Given the description of an element on the screen output the (x, y) to click on. 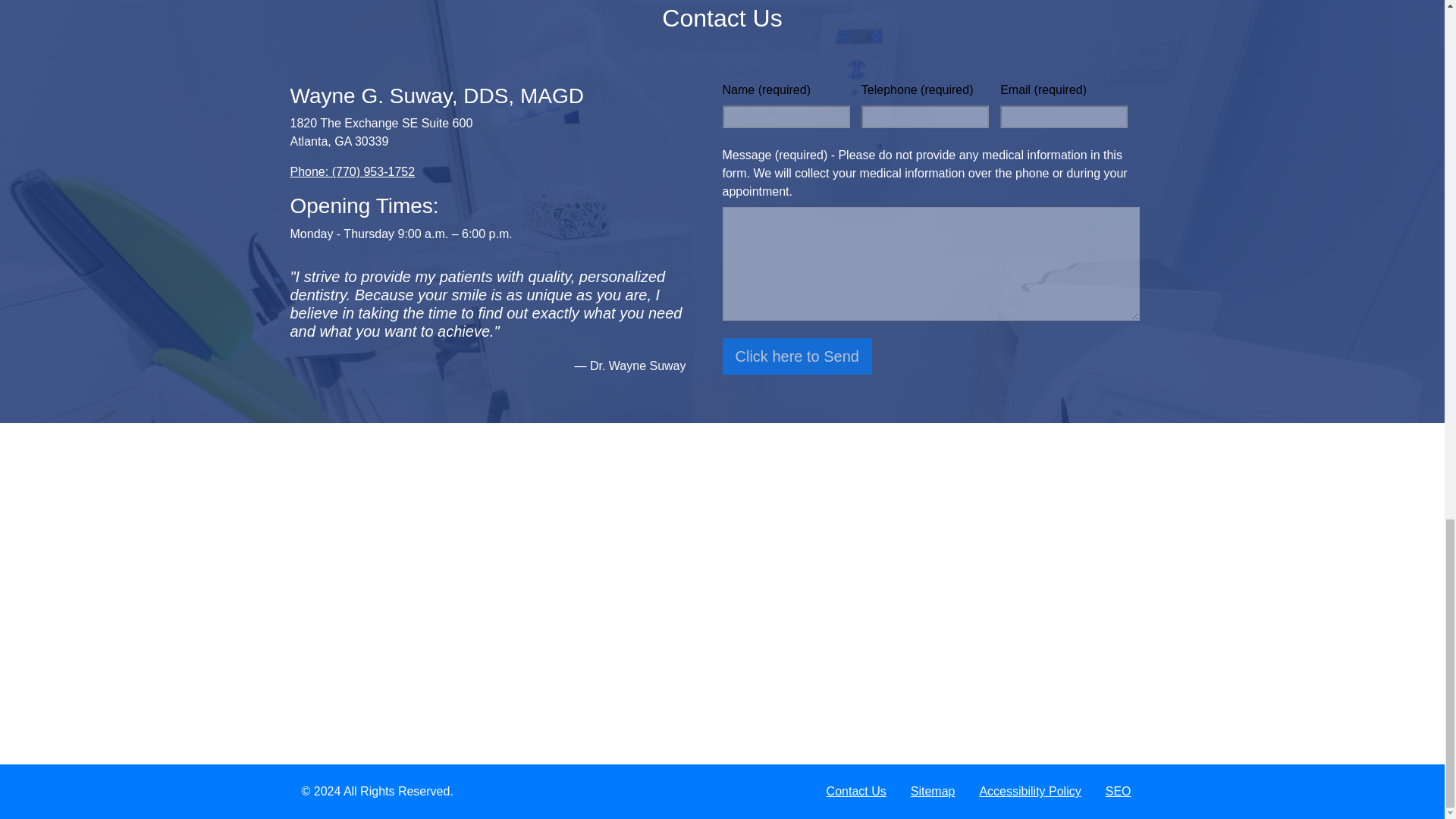
SEO (1117, 791)
Click here to Send (796, 356)
Accessibility Policy (1029, 791)
Click here to Send (796, 356)
Contact Us (855, 791)
Sitemap (933, 791)
